Given the description of an element on the screen output the (x, y) to click on. 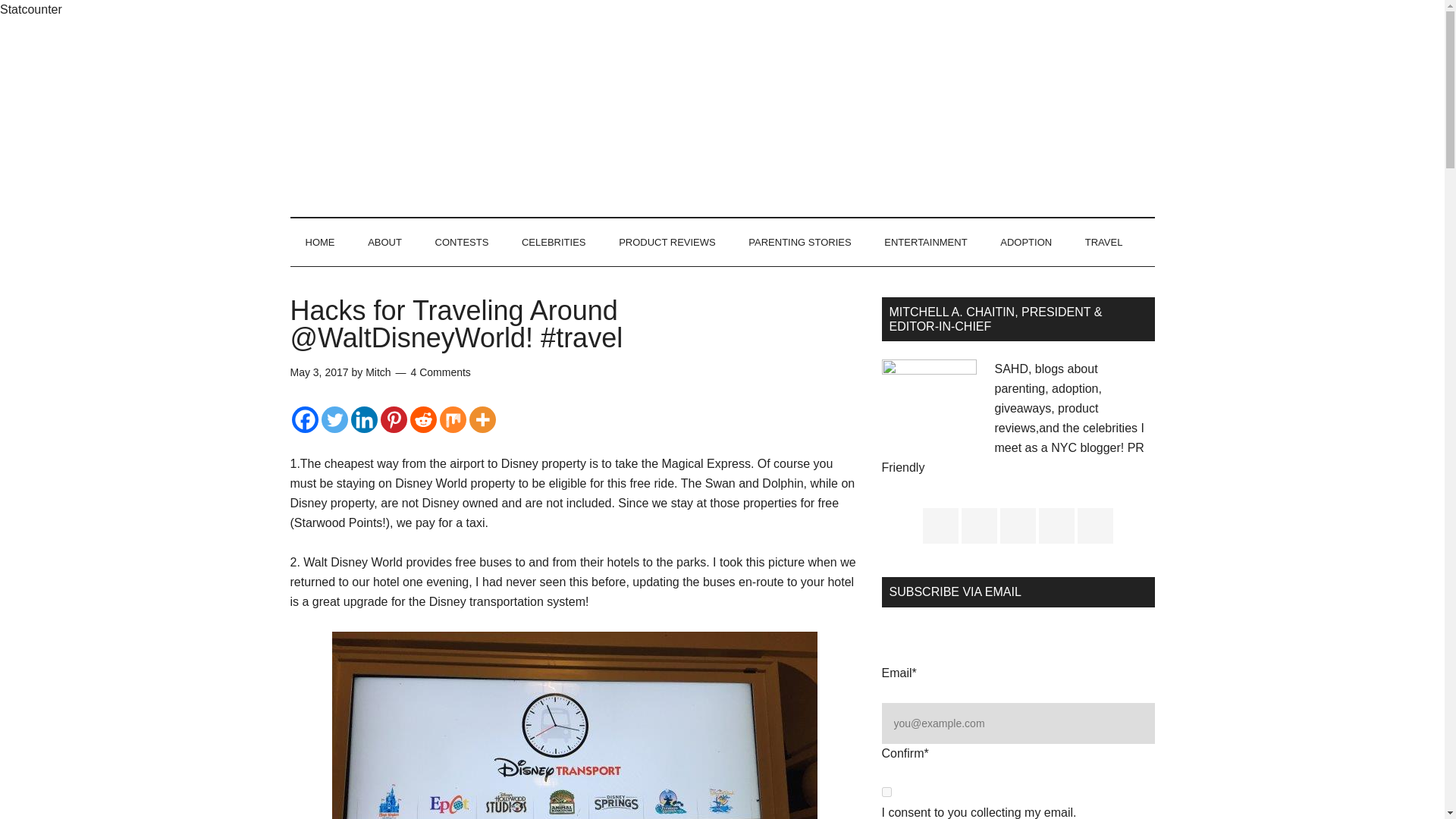
Statcounter (31, 9)
Mitch (377, 372)
ENTERTAINMENT (925, 242)
ABOUT (384, 242)
More (481, 419)
CELEBRITIES (553, 242)
Mix (452, 419)
PRODUCT REVIEWS (667, 242)
HOME (319, 242)
TRAVEL (1104, 242)
